Given the description of an element on the screen output the (x, y) to click on. 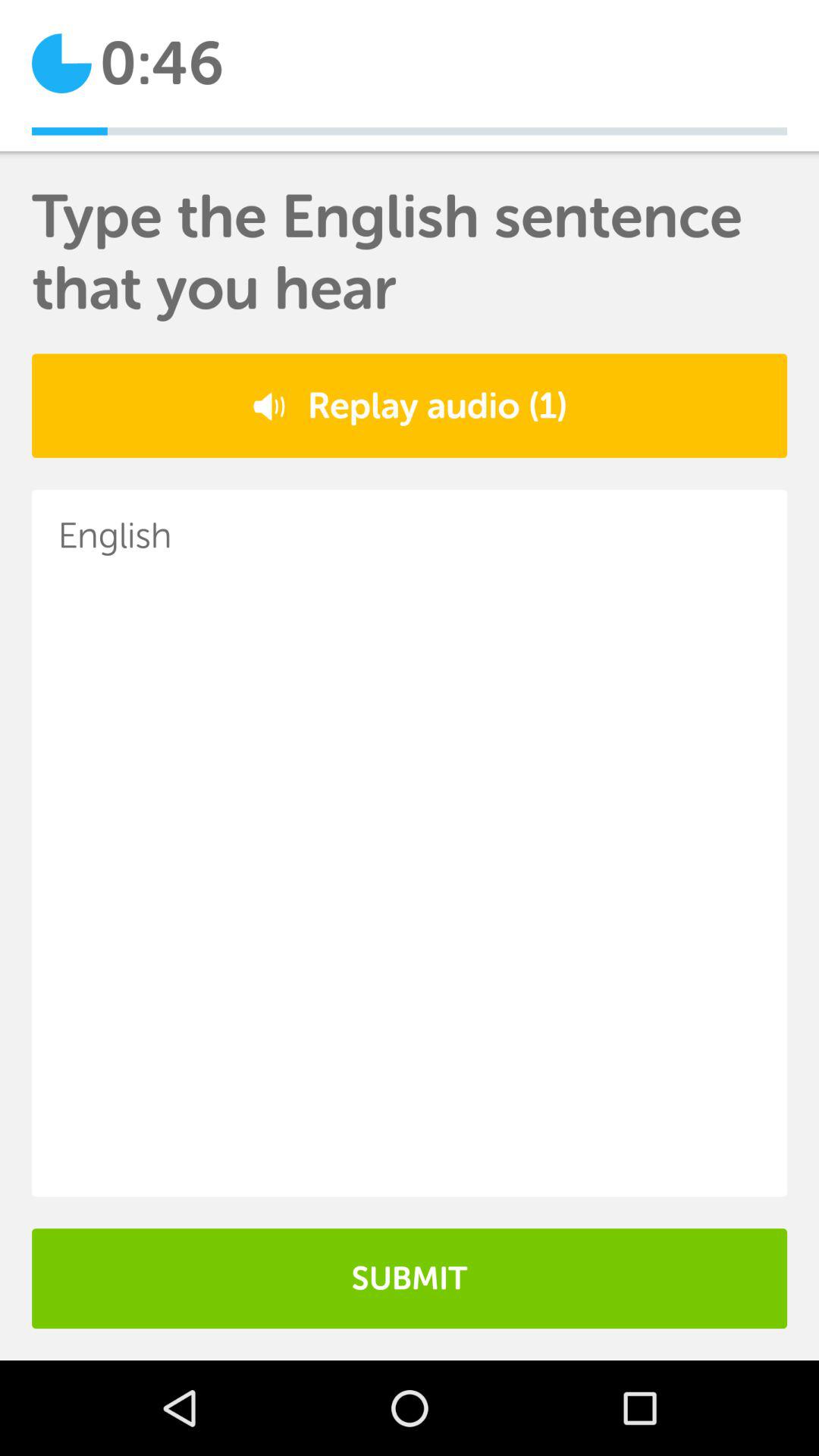
jump to the submit icon (409, 1278)
